Given the description of an element on the screen output the (x, y) to click on. 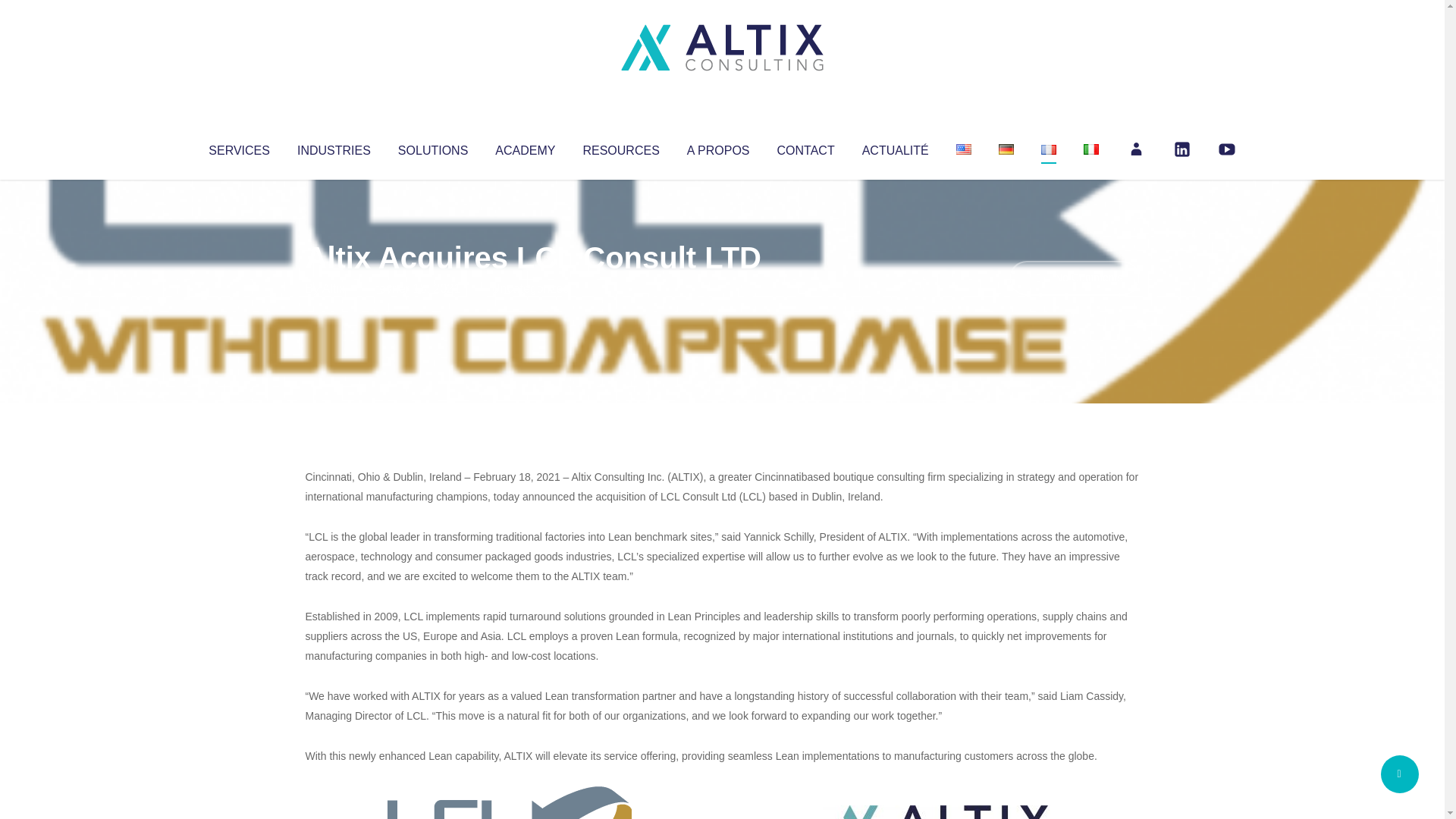
Altix (333, 287)
INDUSTRIES (334, 146)
SOLUTIONS (432, 146)
Uncategorized (530, 287)
A PROPOS (718, 146)
RESOURCES (620, 146)
No Comments (1073, 278)
ACADEMY (524, 146)
Articles par Altix (333, 287)
SERVICES (238, 146)
